Given the description of an element on the screen output the (x, y) to click on. 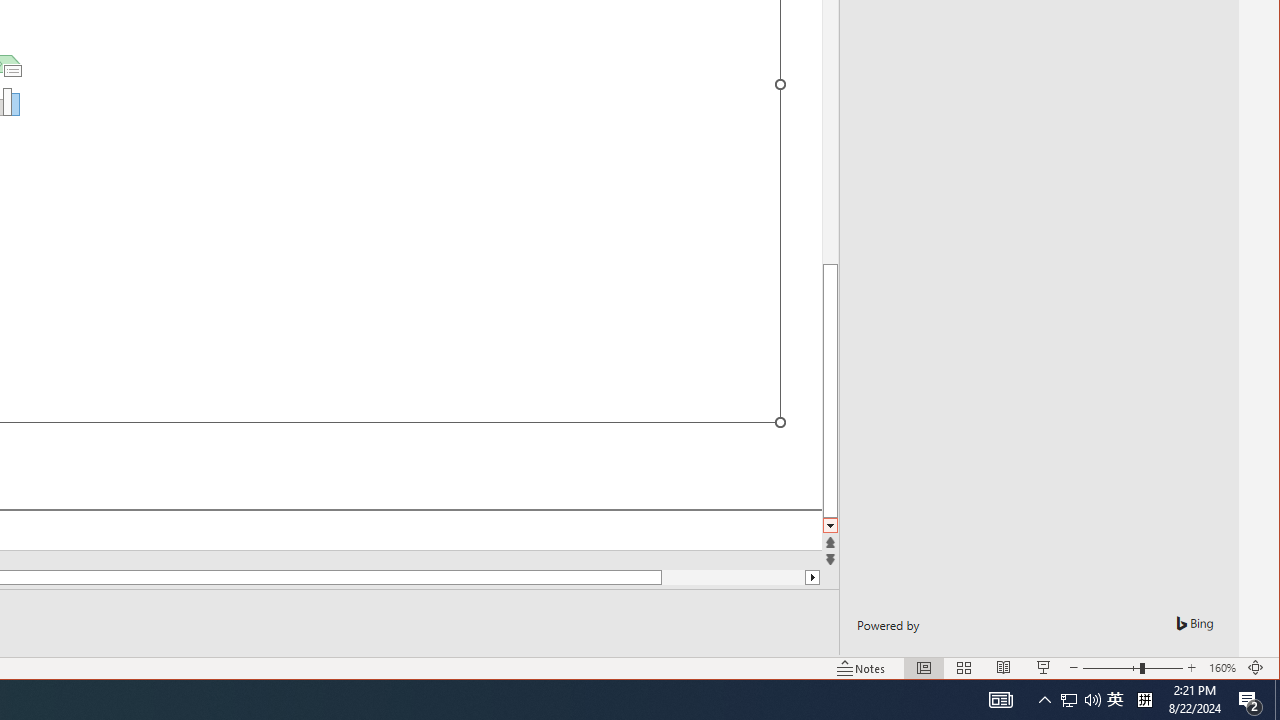
Zoom 160% (1222, 668)
